Given the description of an element on the screen output the (x, y) to click on. 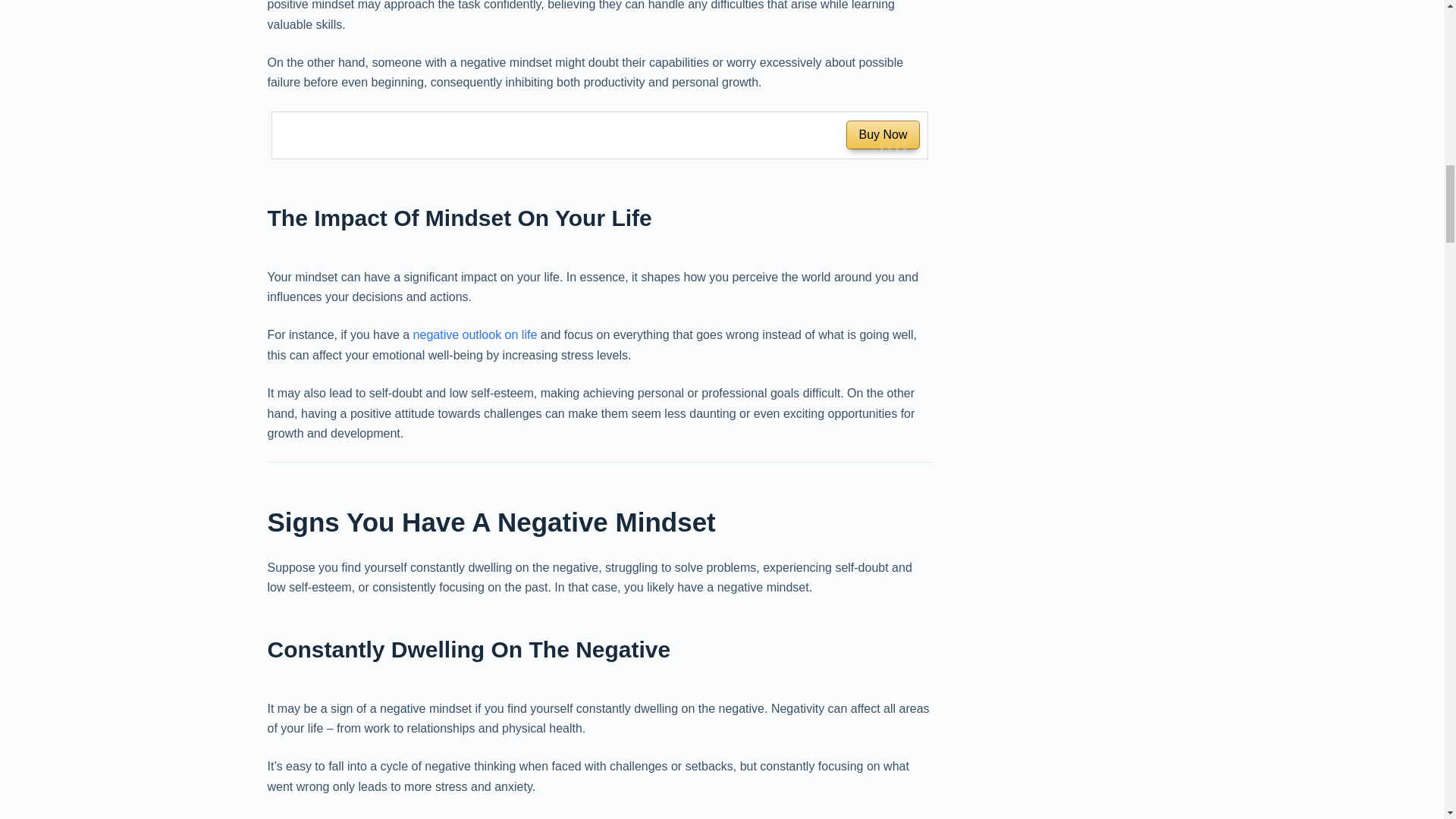
negative outlook on life (599, 134)
